Given the description of an element on the screen output the (x, y) to click on. 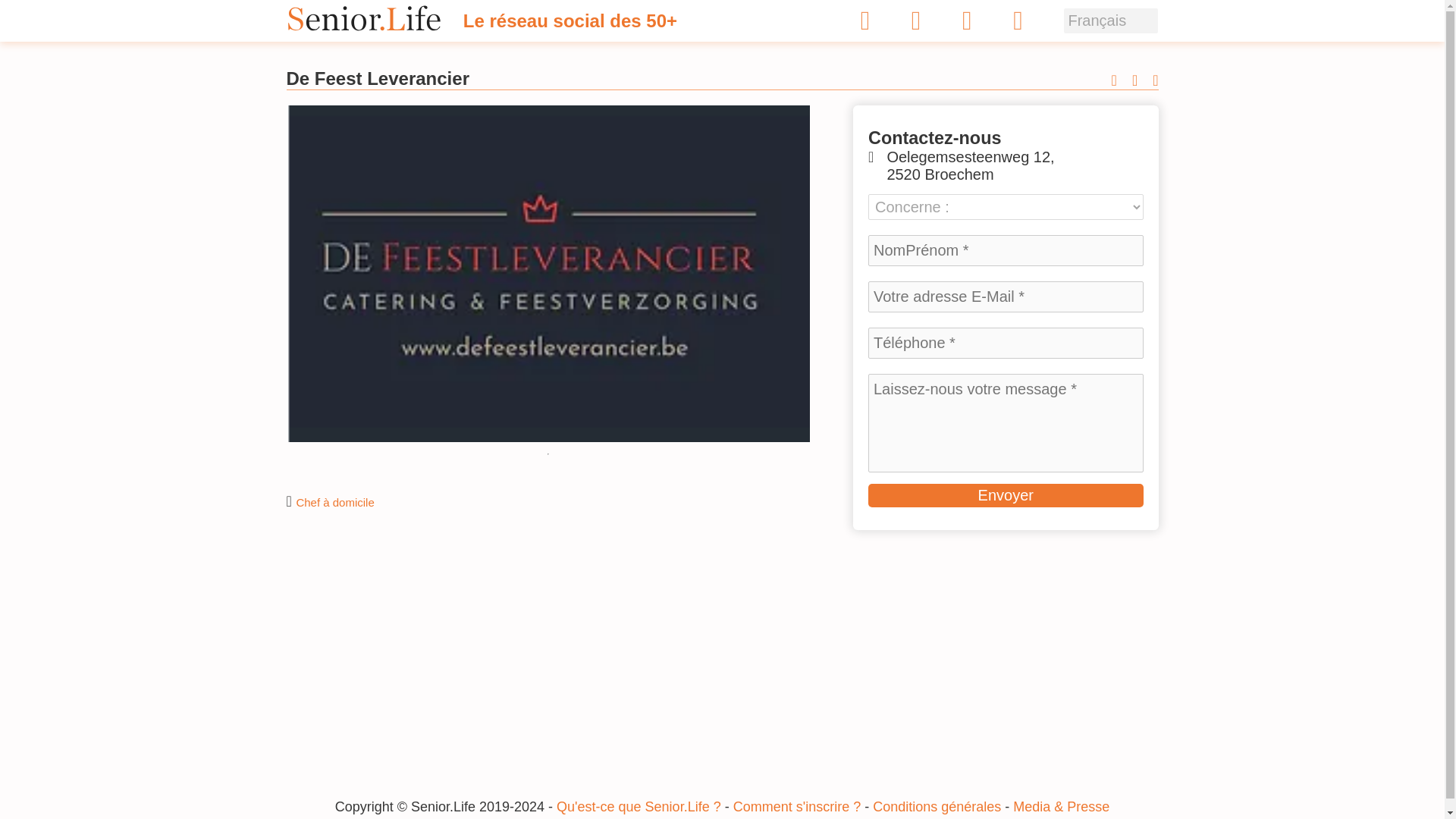
Envoyer (1004, 495)
Annuaire (916, 23)
Profil (865, 23)
Agenda (1018, 23)
Blog (967, 23)
Qu'est-ce que Senior.Life ? (638, 806)
Comment s'inscrire ? (796, 806)
